Given the description of an element on the screen output the (x, y) to click on. 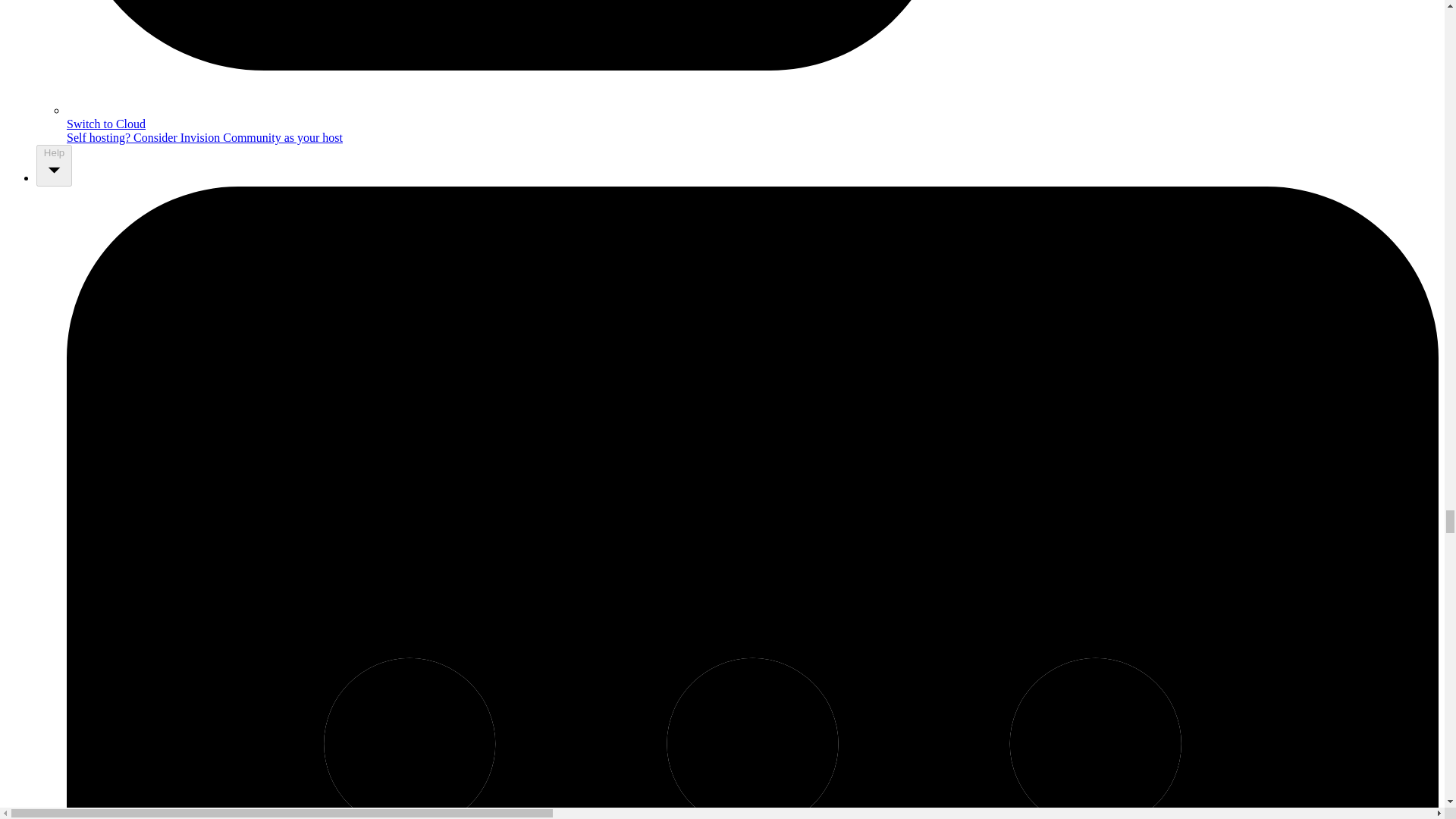
Help (53, 165)
